Given the description of an element on the screen output the (x, y) to click on. 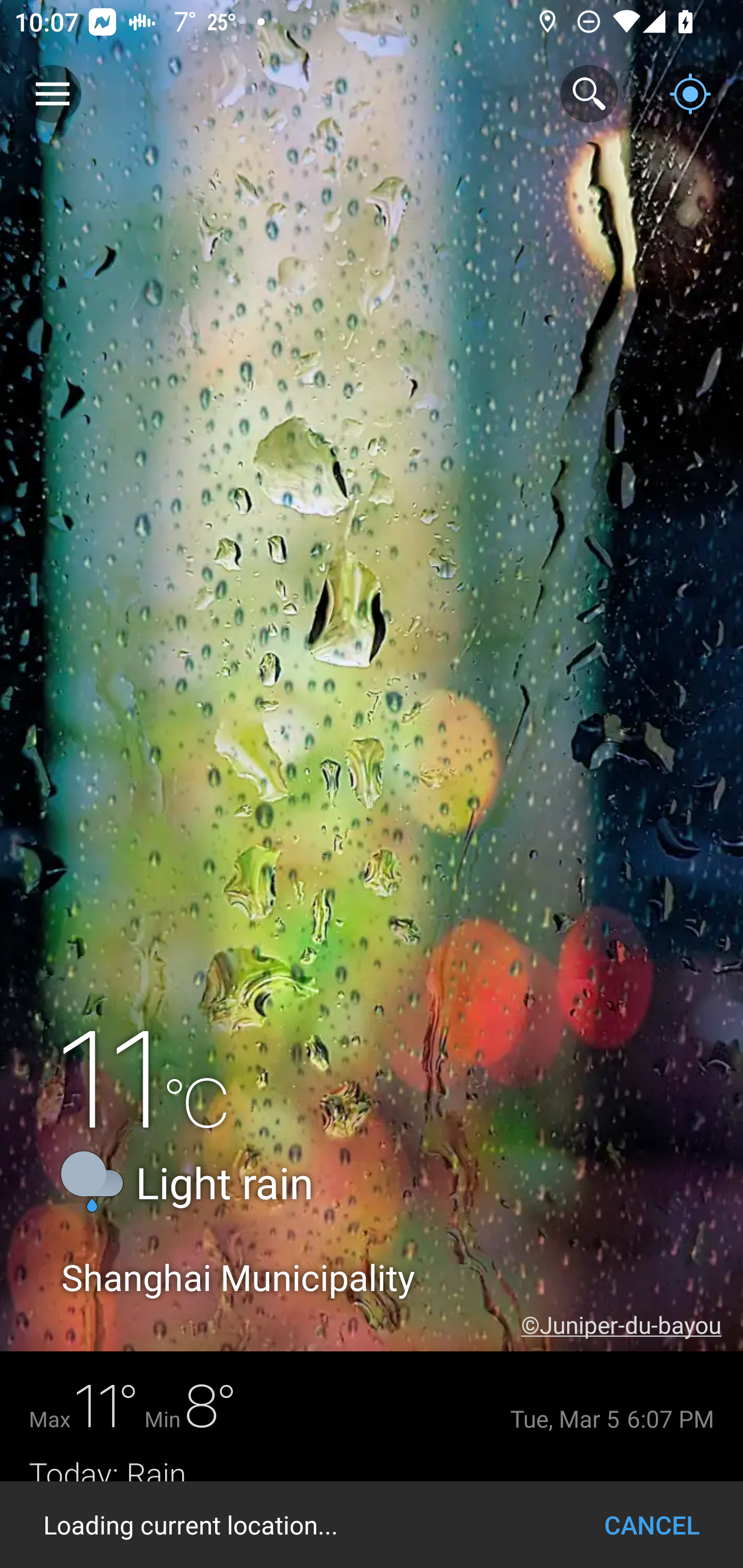
©Juniper-du-bayou (631, 1324)
Loading current location... CANCEL (371, 1524)
CANCEL (651, 1524)
